Given the description of an element on the screen output the (x, y) to click on. 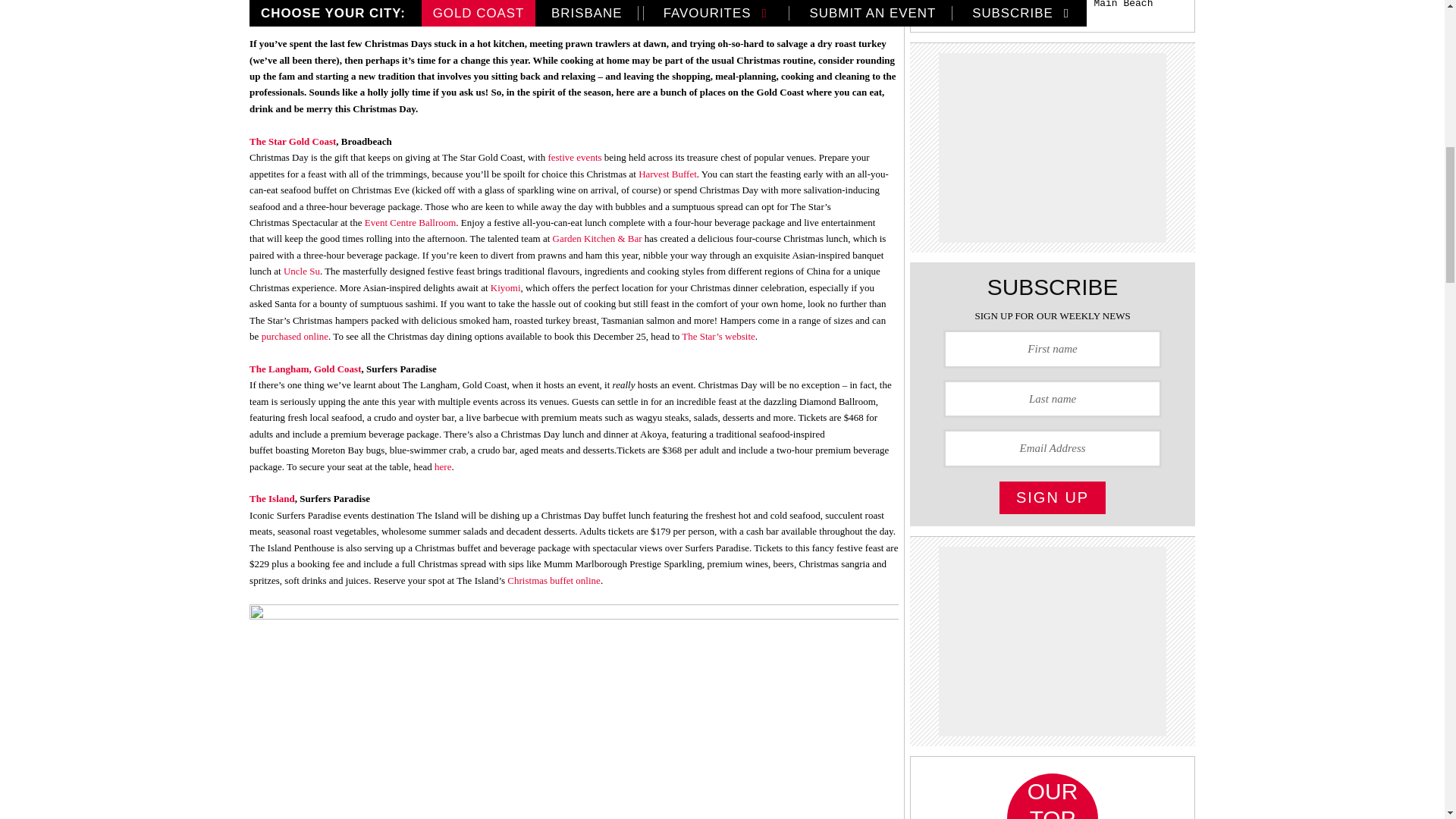
Kiyomi (505, 287)
Uncle Su (301, 270)
Sign Up (1051, 497)
Harvest Buffet (668, 173)
Event Centre Ballroom (411, 222)
The Star Gold Coast (292, 141)
The Langham, Gold Coast (304, 368)
festive events (574, 156)
purchased online (295, 336)
here (442, 466)
